Given the description of an element on the screen output the (x, y) to click on. 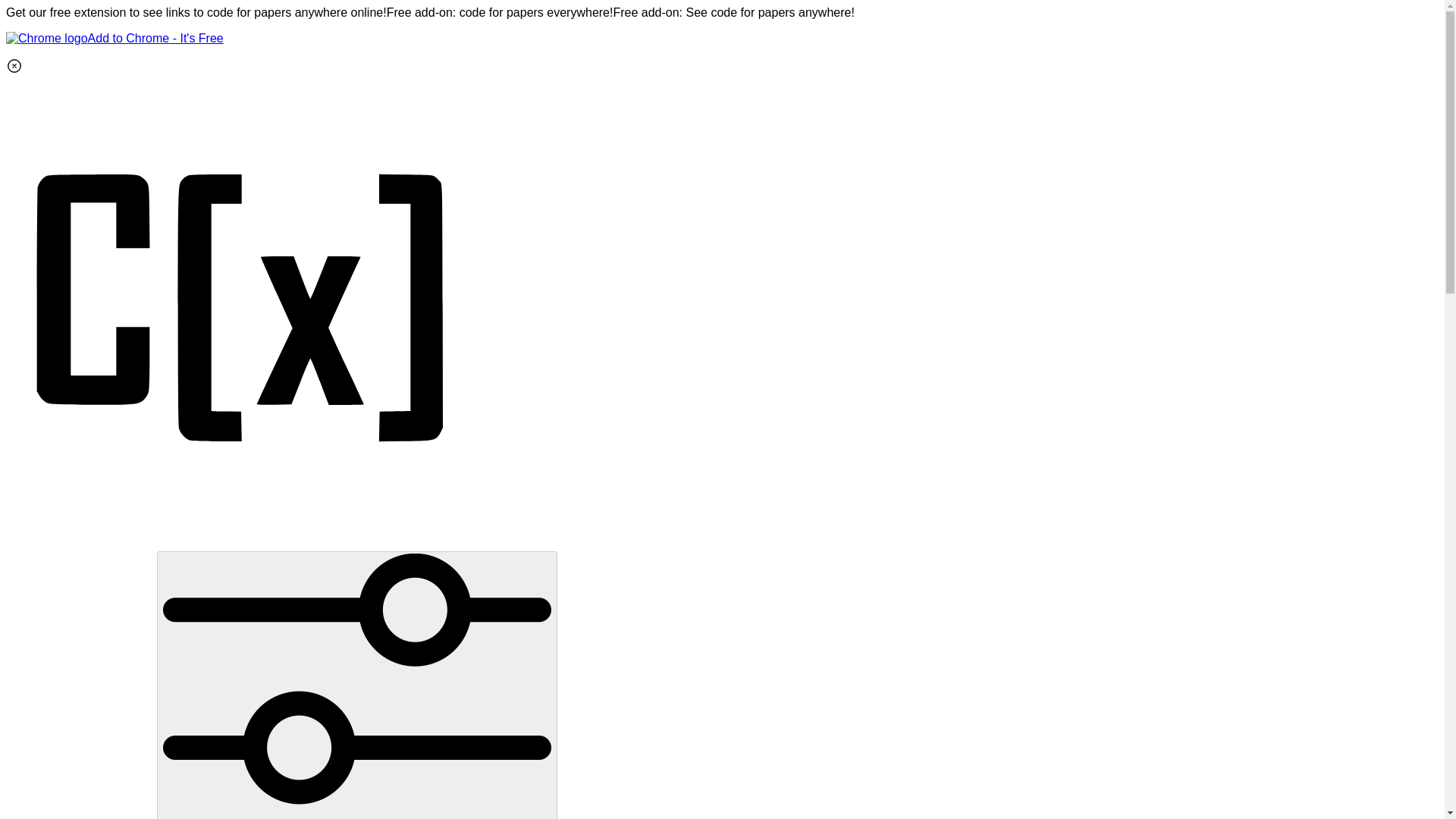
CatalyzeX Icon (241, 543)
